Given the description of an element on the screen output the (x, y) to click on. 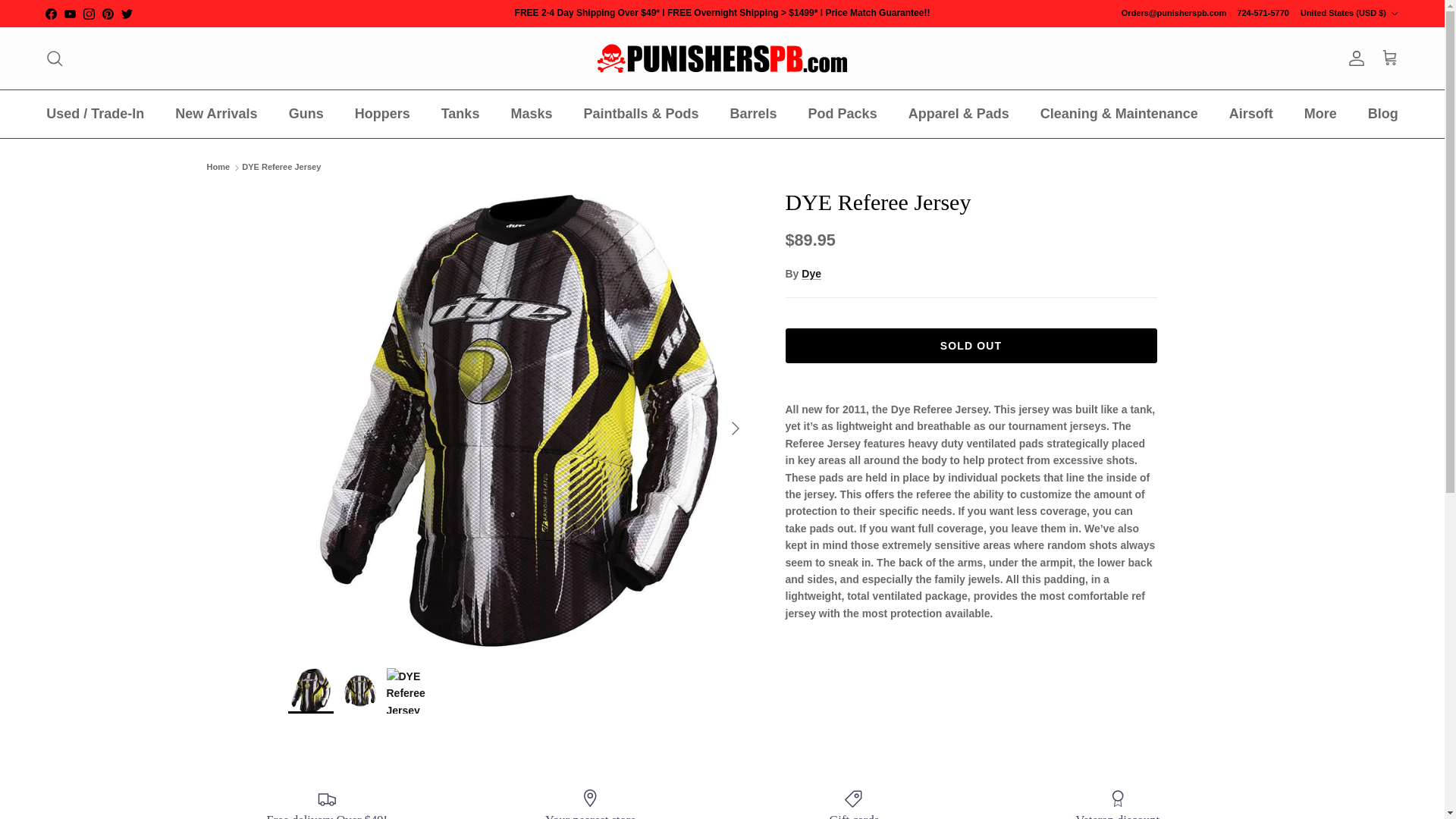
Punishers Paintball on Facebook (50, 12)
New Arrivals (215, 114)
Punishers Paintball on YouTube (69, 12)
Cart (1389, 57)
Twitter (126, 12)
Instagram (88, 12)
Punishers Paintball on Twitter (126, 12)
Punishers Paintball on Pinterest (107, 12)
Account (1352, 58)
Search (54, 58)
